Given the description of an element on the screen output the (x, y) to click on. 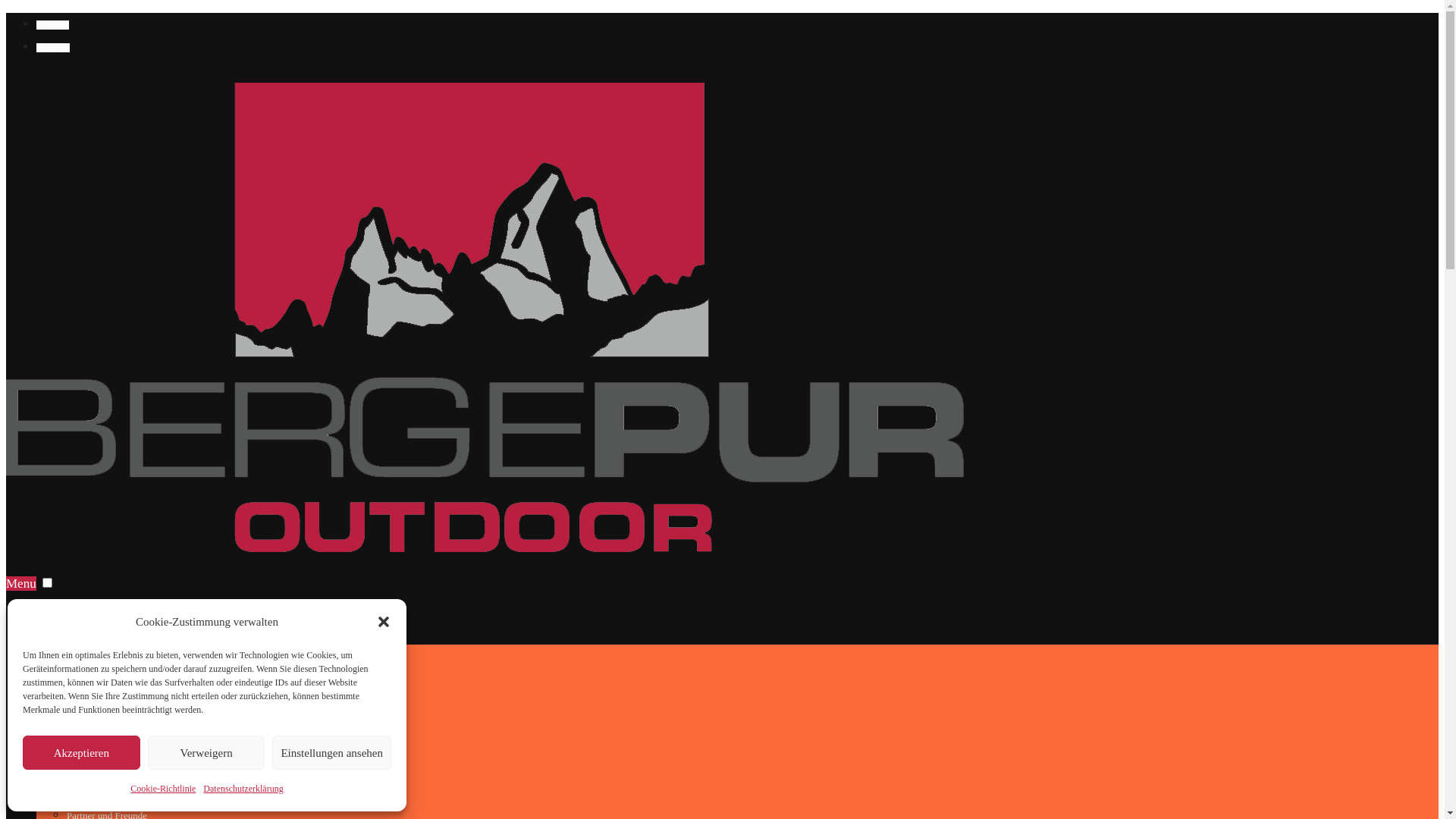
Cookie-Richtlinie Element type: text (162, 788)
Einstellungen ansehen Element type: text (331, 752)
Beratung Element type: text (84, 678)
Umtauschgarantie Element type: text (102, 747)
Instagram Element type: text (52, 47)
Facebook Element type: text (52, 24)
Shop in Zug Element type: text (68, 632)
Marken Element type: text (81, 656)
Verweigern Element type: text (206, 752)
Team Element type: text (77, 792)
Ausstellung Element type: text (89, 701)
Akzeptieren Element type: text (81, 752)
Service Element type: text (81, 769)
Vermietung Element type: text (89, 724)
